Given the description of an element on the screen output the (x, y) to click on. 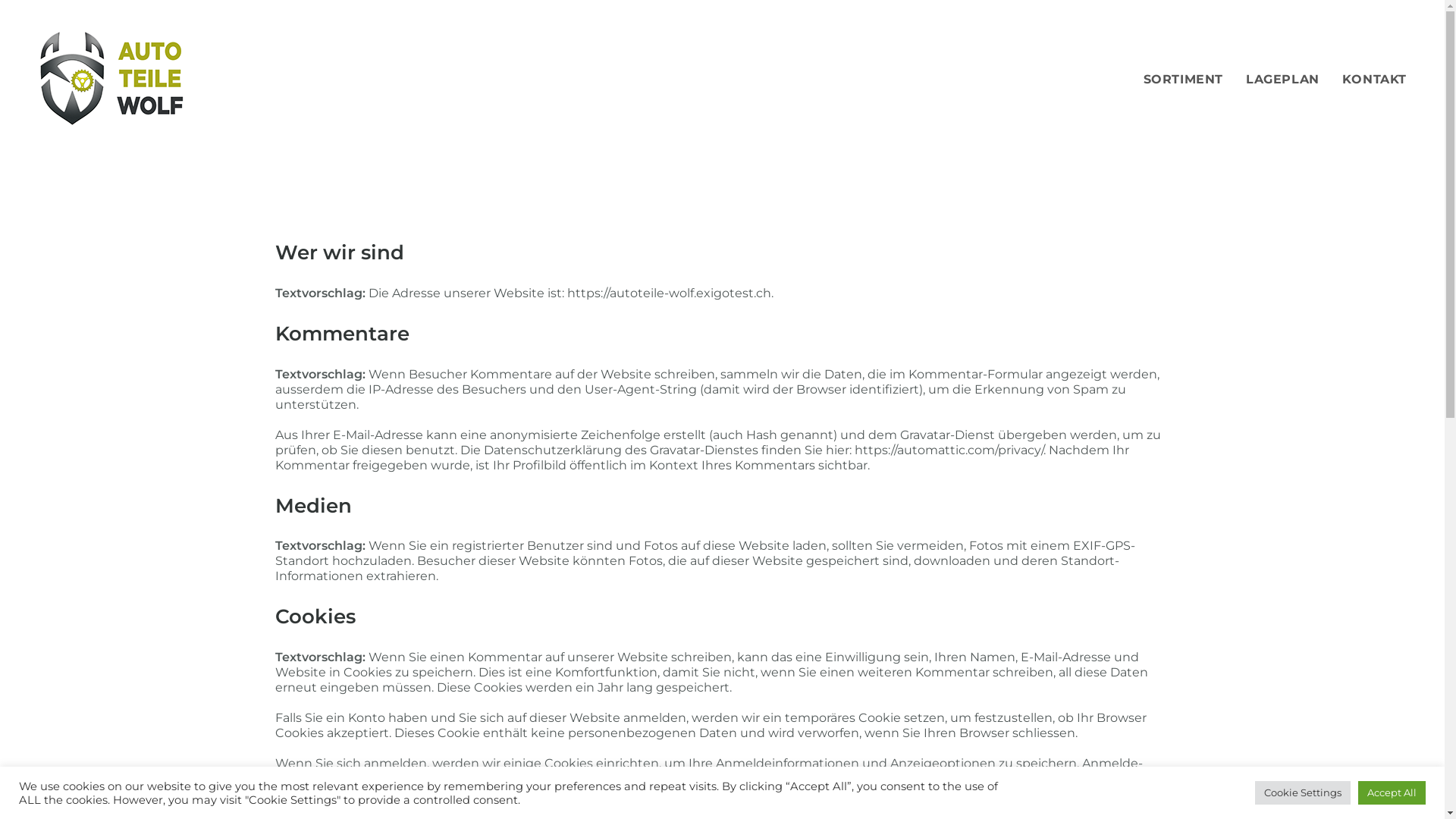
LAGEPLAN Element type: text (1282, 79)
Accept All Element type: text (1391, 792)
KONTAKT Element type: text (1374, 79)
SORTIMENT Element type: text (1183, 79)
Cookie Settings Element type: text (1302, 792)
